Given the description of an element on the screen output the (x, y) to click on. 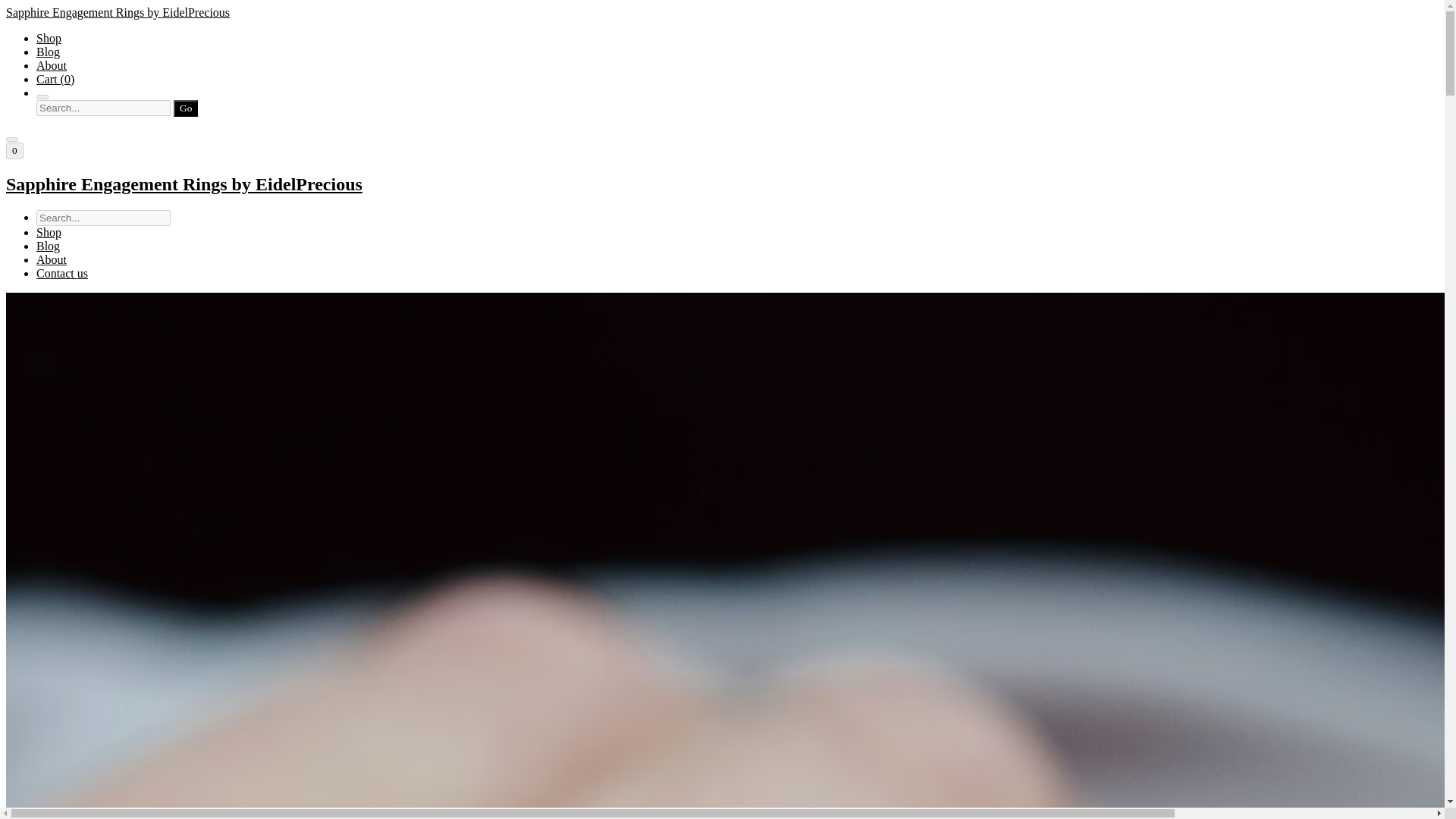
Go (185, 108)
0 (14, 150)
Sapphire Engagement Rings by EidelPrecious (721, 184)
Blog (47, 51)
Blog (47, 245)
About (51, 259)
Shop (48, 232)
Shop (48, 38)
About (51, 65)
